Given the description of an element on the screen output the (x, y) to click on. 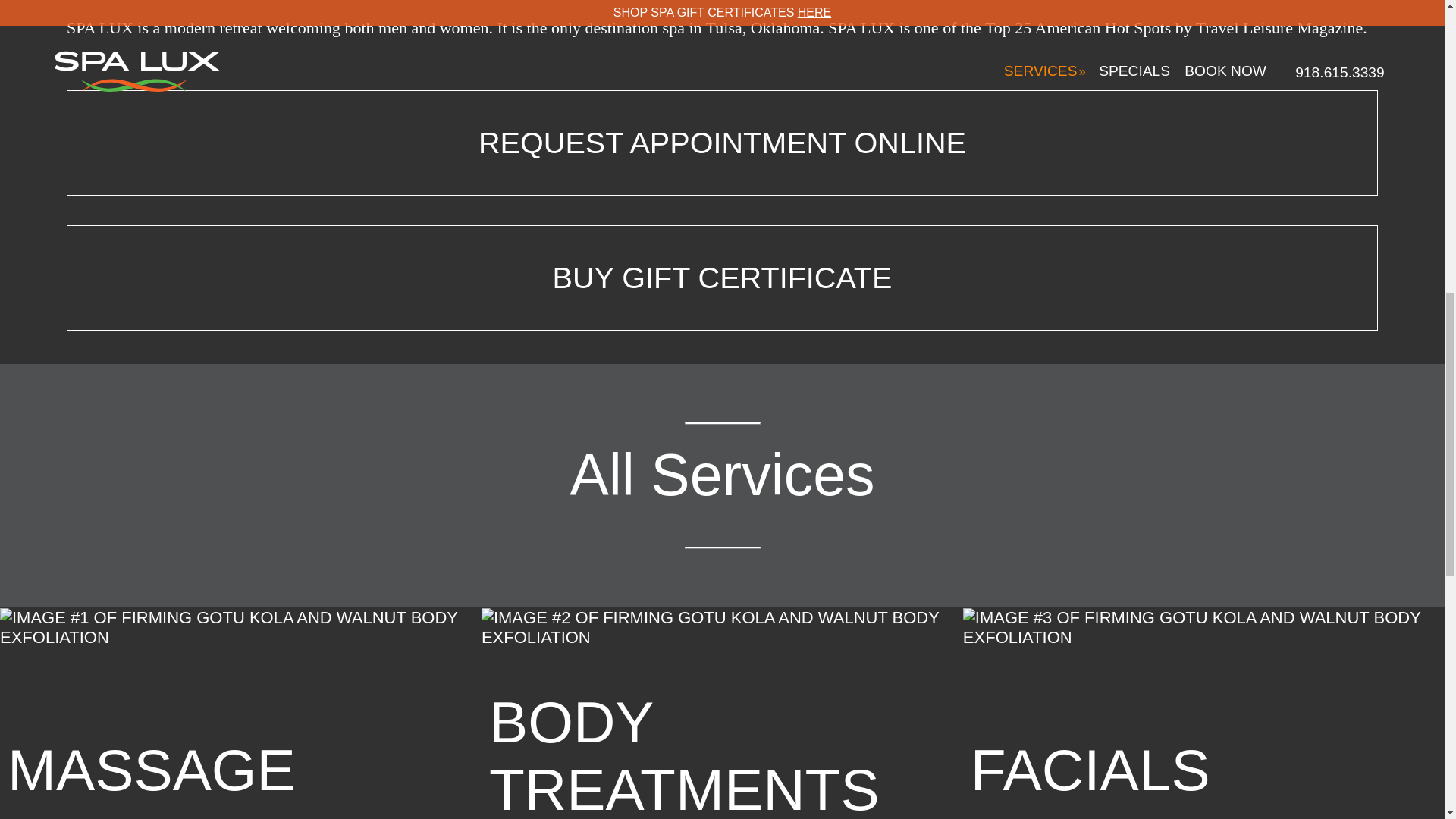
BODY TREATMENTS (721, 713)
MASSAGE (240, 713)
